Given the description of an element on the screen output the (x, y) to click on. 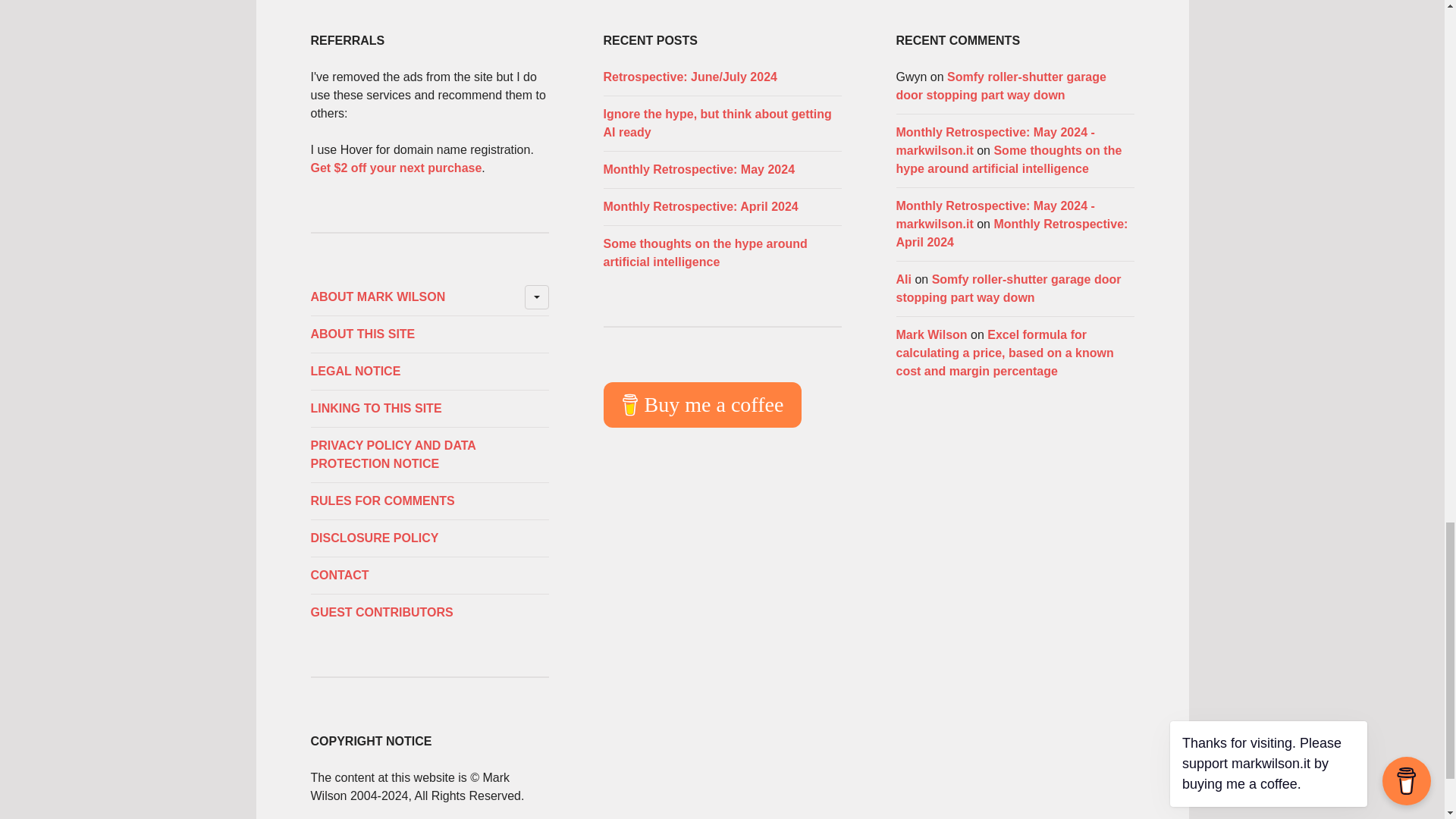
GUEST CONTRIBUTORS (429, 612)
DISCLOSURE POLICY (429, 538)
LINKING TO THIS SITE (429, 408)
PRIVACY POLICY AND DATA PROTECTION NOTICE (429, 454)
RULES FOR COMMENTS (429, 501)
ABOUT THIS SITE (429, 334)
CONTACT (429, 575)
LEGAL NOTICE (429, 371)
ABOUT MARK WILSON (429, 297)
